Given the description of an element on the screen output the (x, y) to click on. 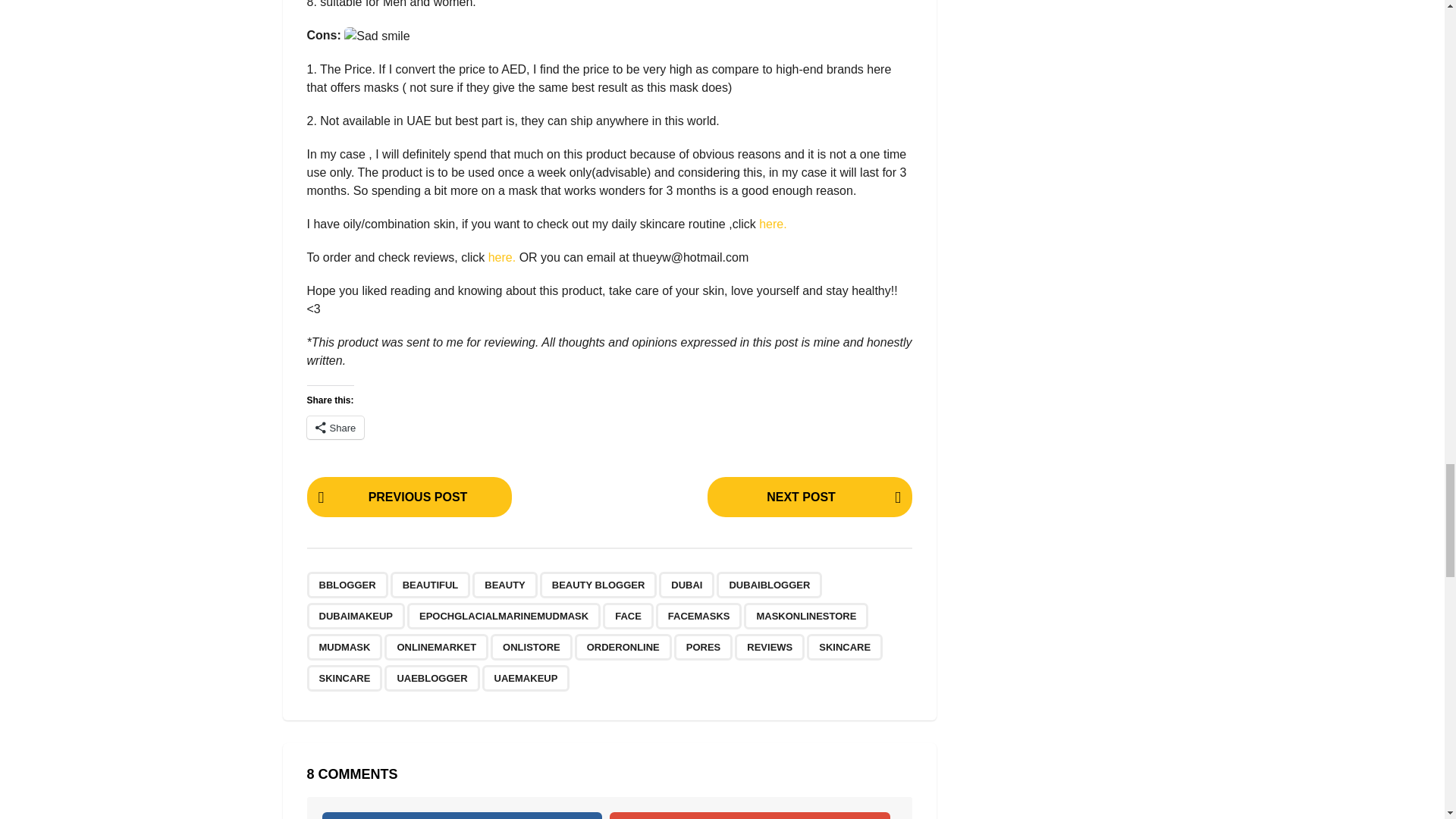
PREVIOUS POST (408, 496)
here. (772, 223)
BBLOGGER (346, 584)
here. (499, 256)
Share (334, 427)
NEXT POST (809, 496)
